Given the description of an element on the screen output the (x, y) to click on. 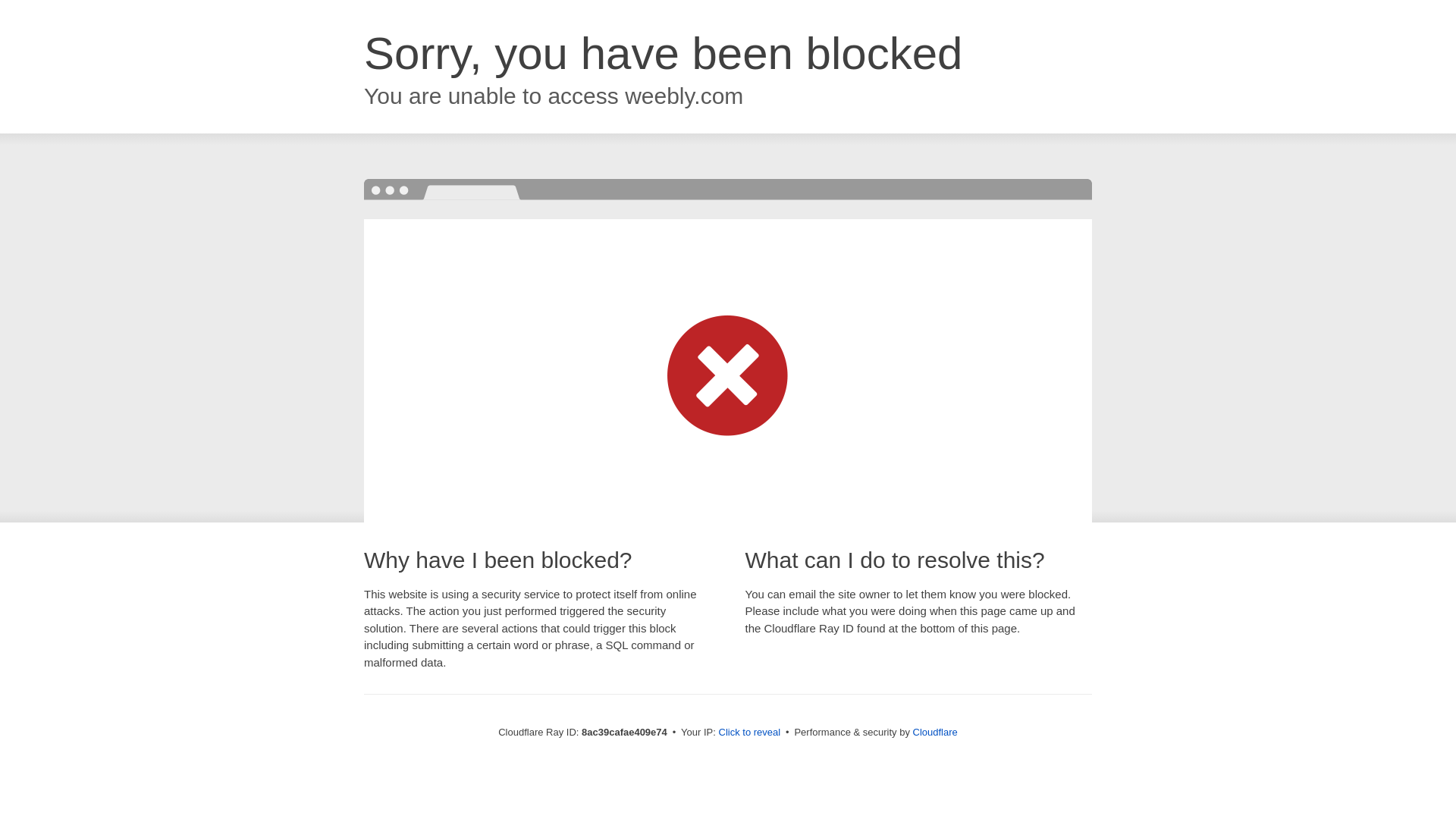
Cloudflare (935, 731)
Click to reveal (749, 732)
